Given the description of an element on the screen output the (x, y) to click on. 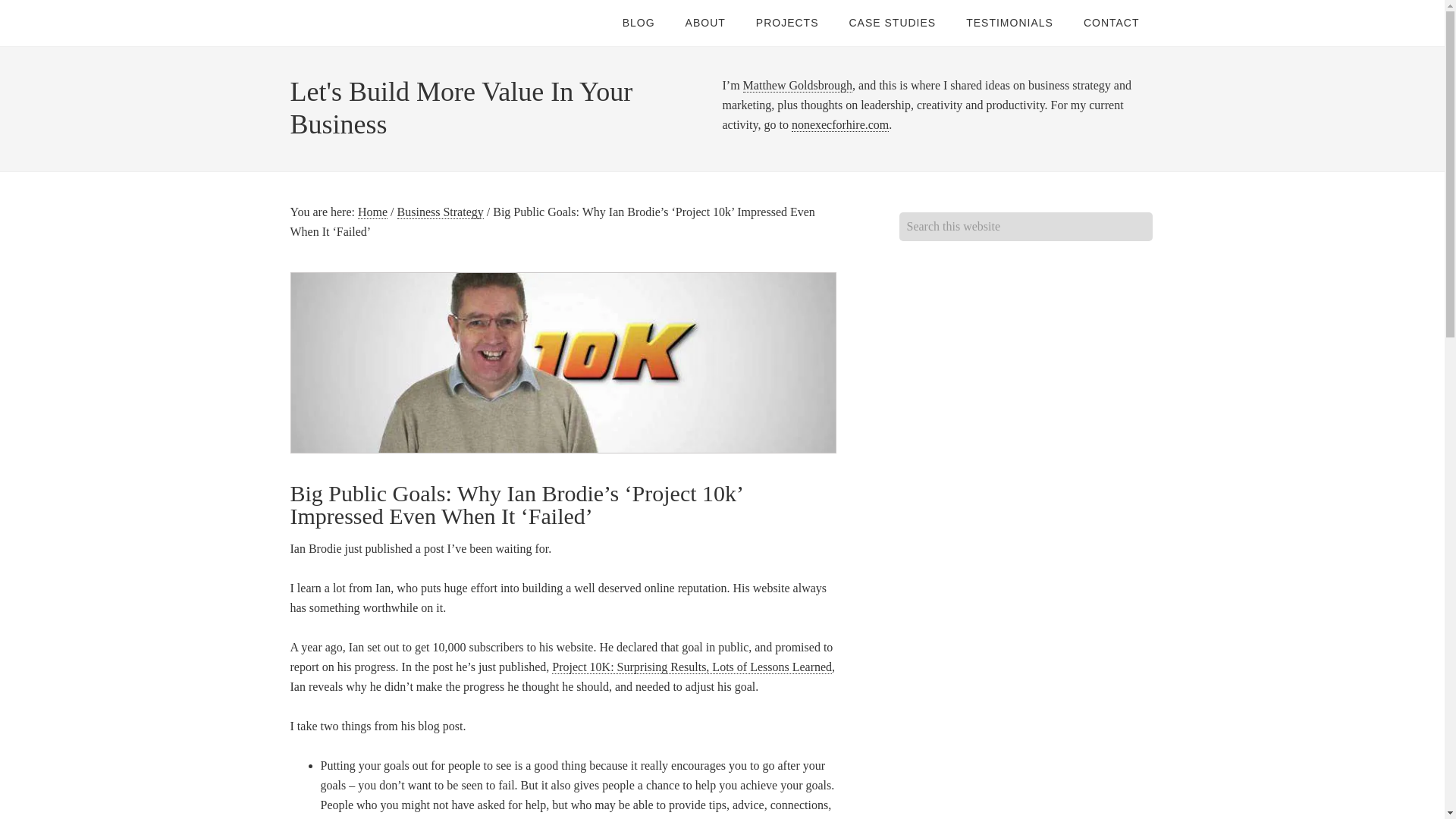
nonexecforhire.com (840, 124)
Business Strategy (440, 212)
Project 10K: Surprising Results, Lots of Lessons Learned (691, 667)
Home (372, 212)
Matthew Goldsbrough (796, 85)
ABOUT (705, 22)
GOLDSBROUGH CONSULTING LIMITED (410, 22)
BLOG (638, 22)
TESTIMONIALS (1009, 22)
